Given the description of an element on the screen output the (x, y) to click on. 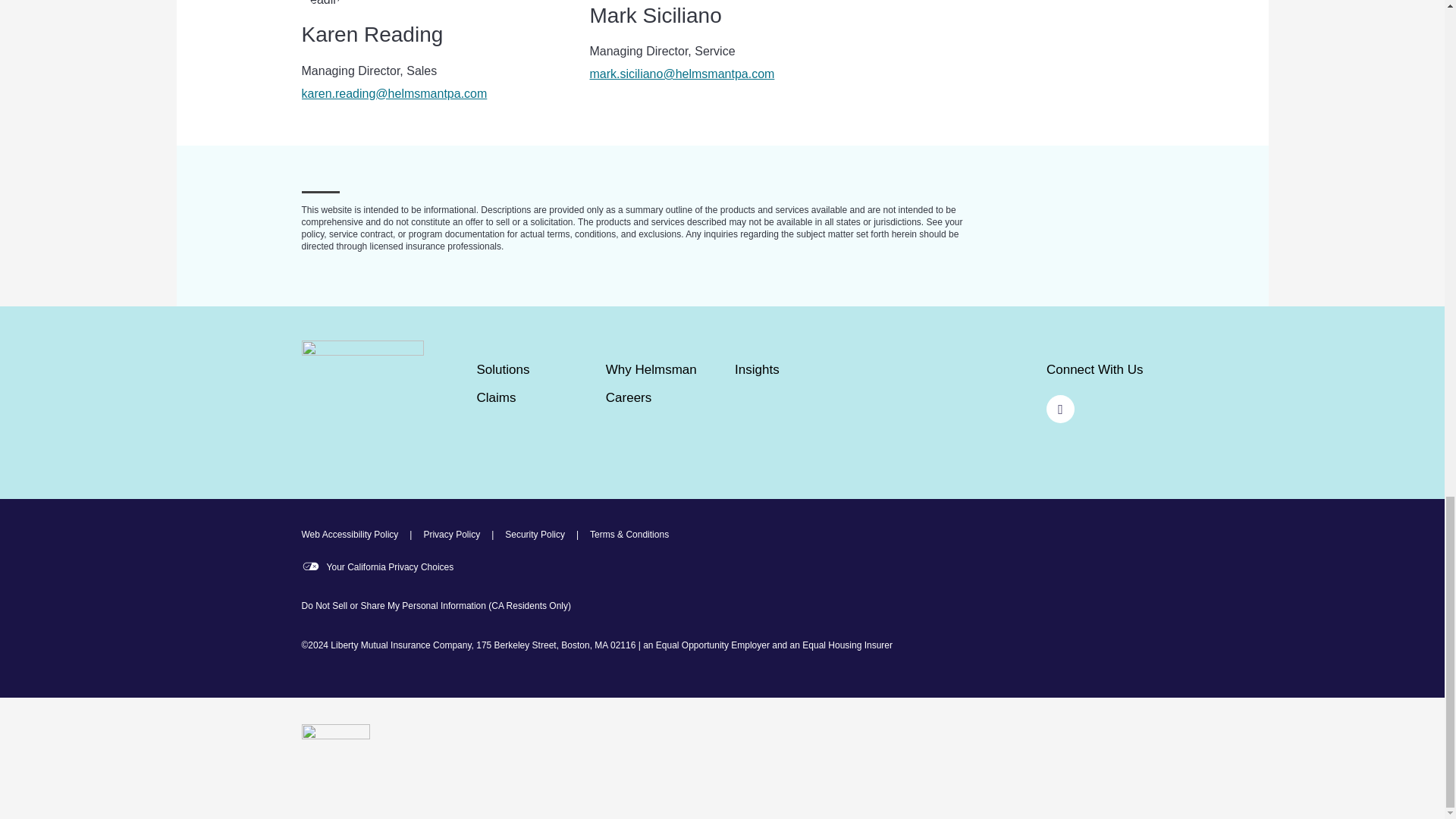
Norton Secured Logo (335, 757)
View our LinkedIn page (1060, 408)
